Given the description of an element on the screen output the (x, y) to click on. 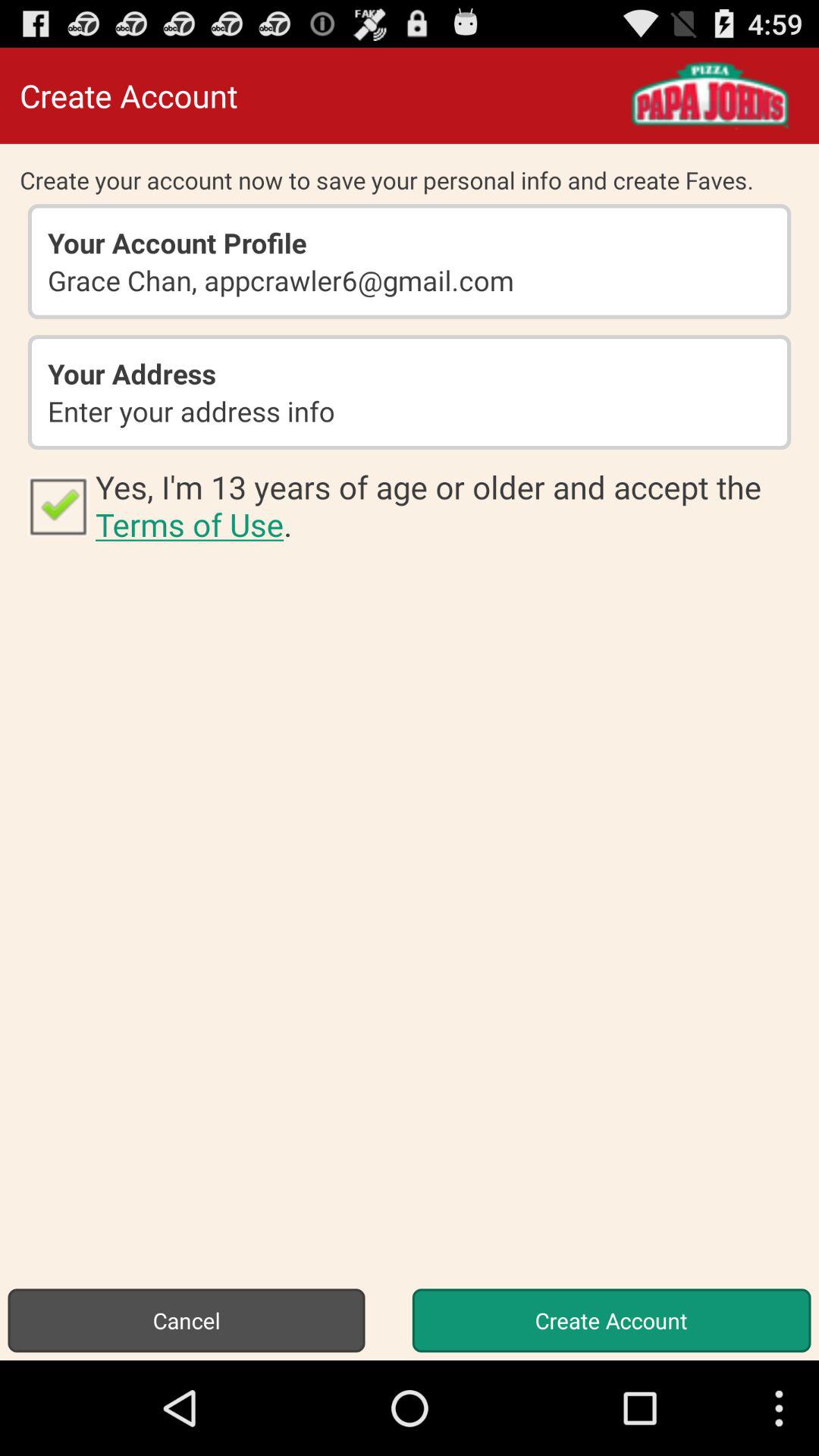
turn off button to the left of the create account button (186, 1320)
